Given the description of an element on the screen output the (x, y) to click on. 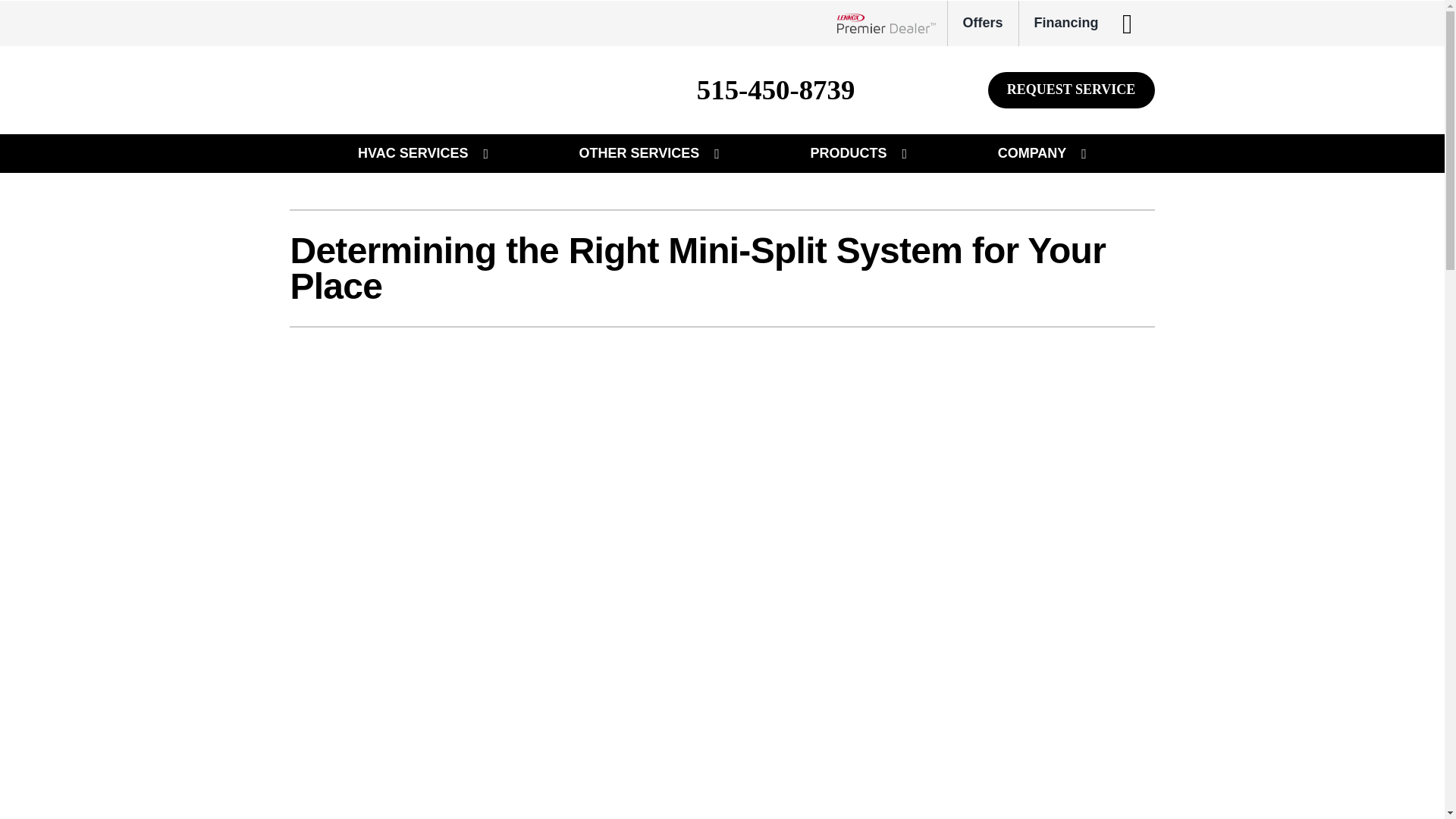
PRODUCTS (847, 153)
515-450-8739 (776, 90)
OTHER SERVICES (639, 153)
Offers (982, 22)
REQUEST SERVICE (1071, 90)
Financing (1065, 22)
HVAC SERVICES (412, 153)
